Given the description of an element on the screen output the (x, y) to click on. 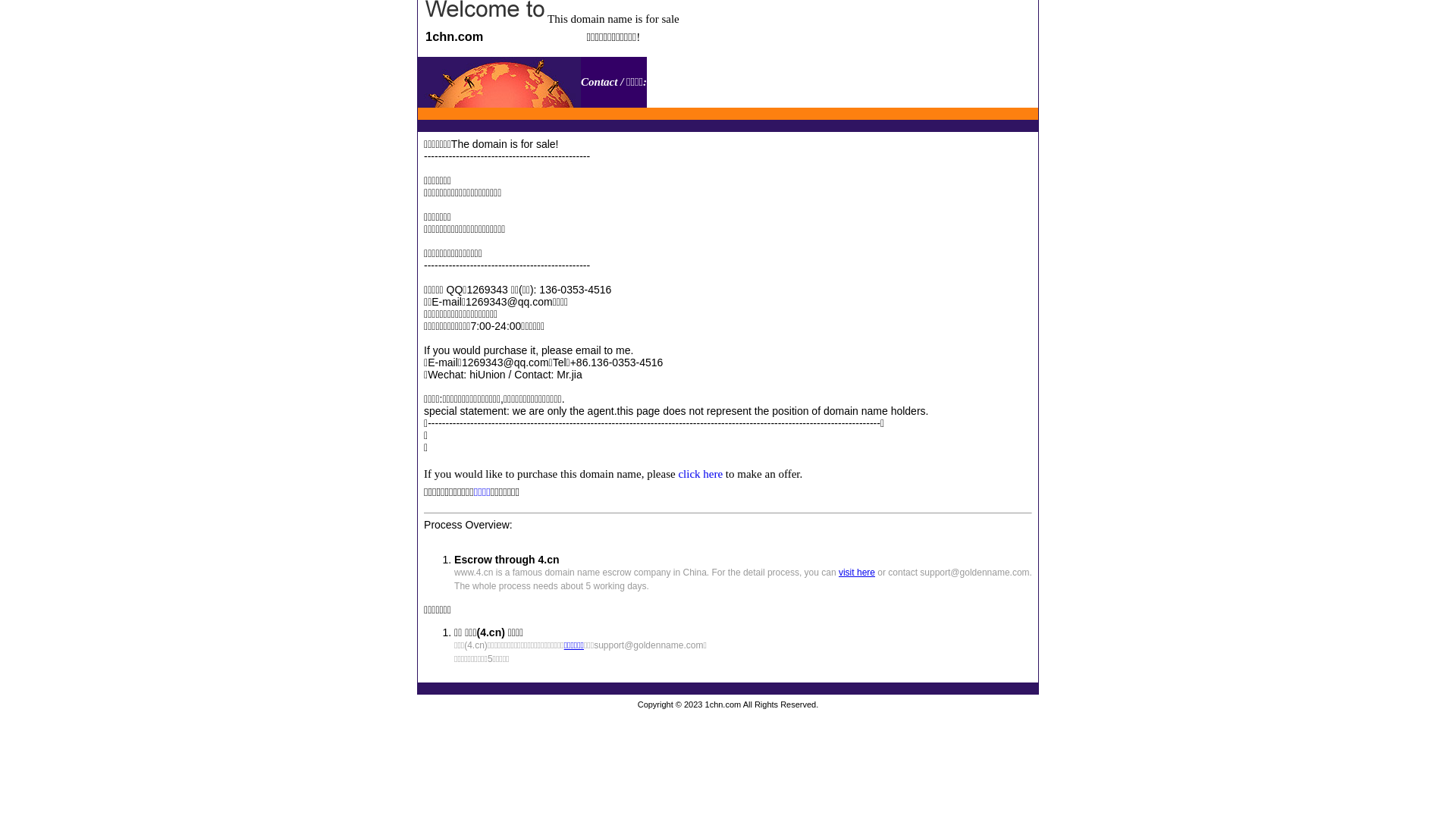
visit here Element type: text (856, 572)
click here Element type: text (699, 473)
